Given the description of an element on the screen output the (x, y) to click on. 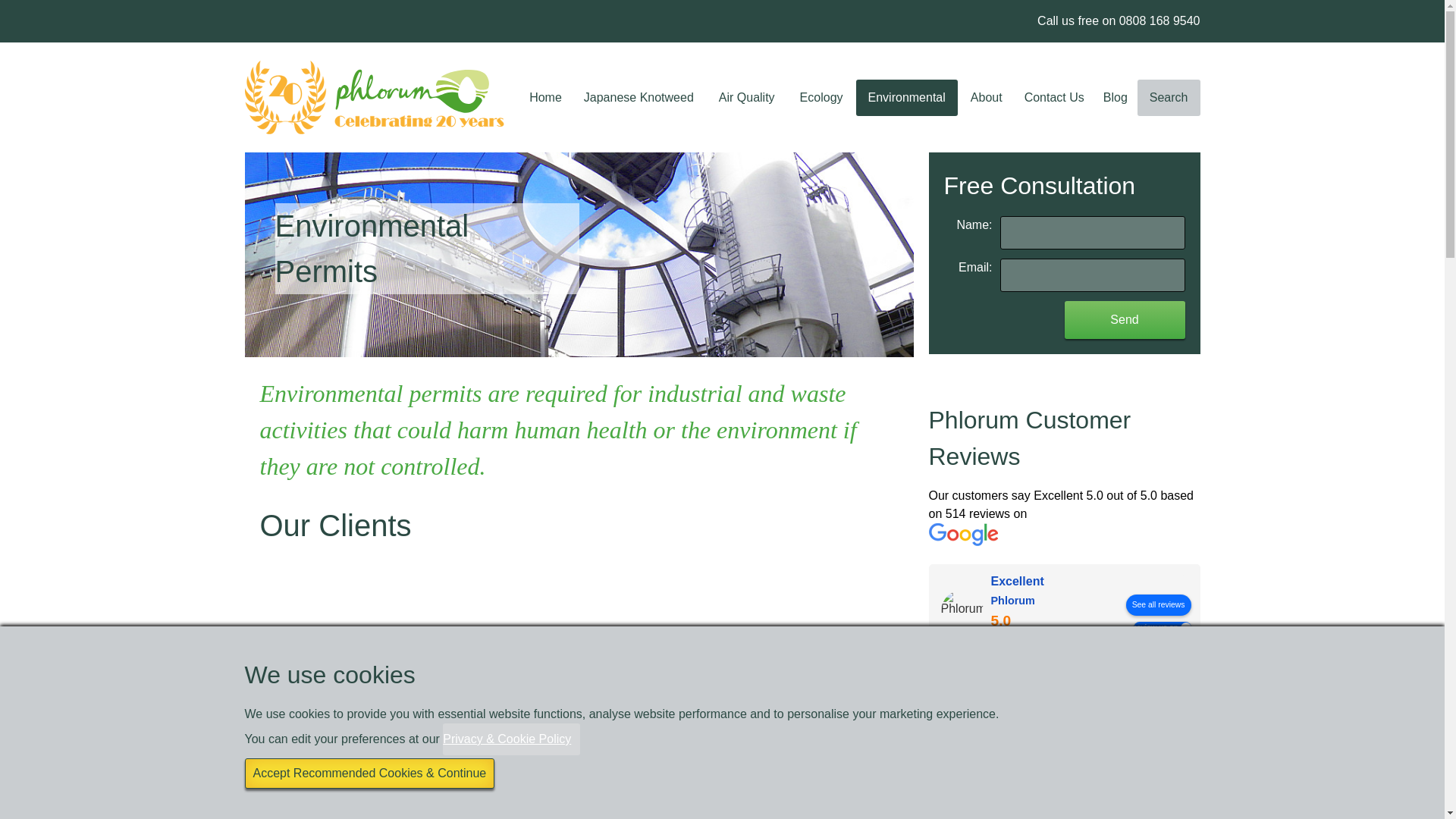
Phlorum (961, 610)
Kevin Ahern (956, 699)
Ecology (821, 96)
Kevin Ahern (1088, 689)
Japanese Knotweed (639, 96)
Home (544, 96)
Send (1124, 320)
Air Quality (746, 96)
